Given the description of an element on the screen output the (x, y) to click on. 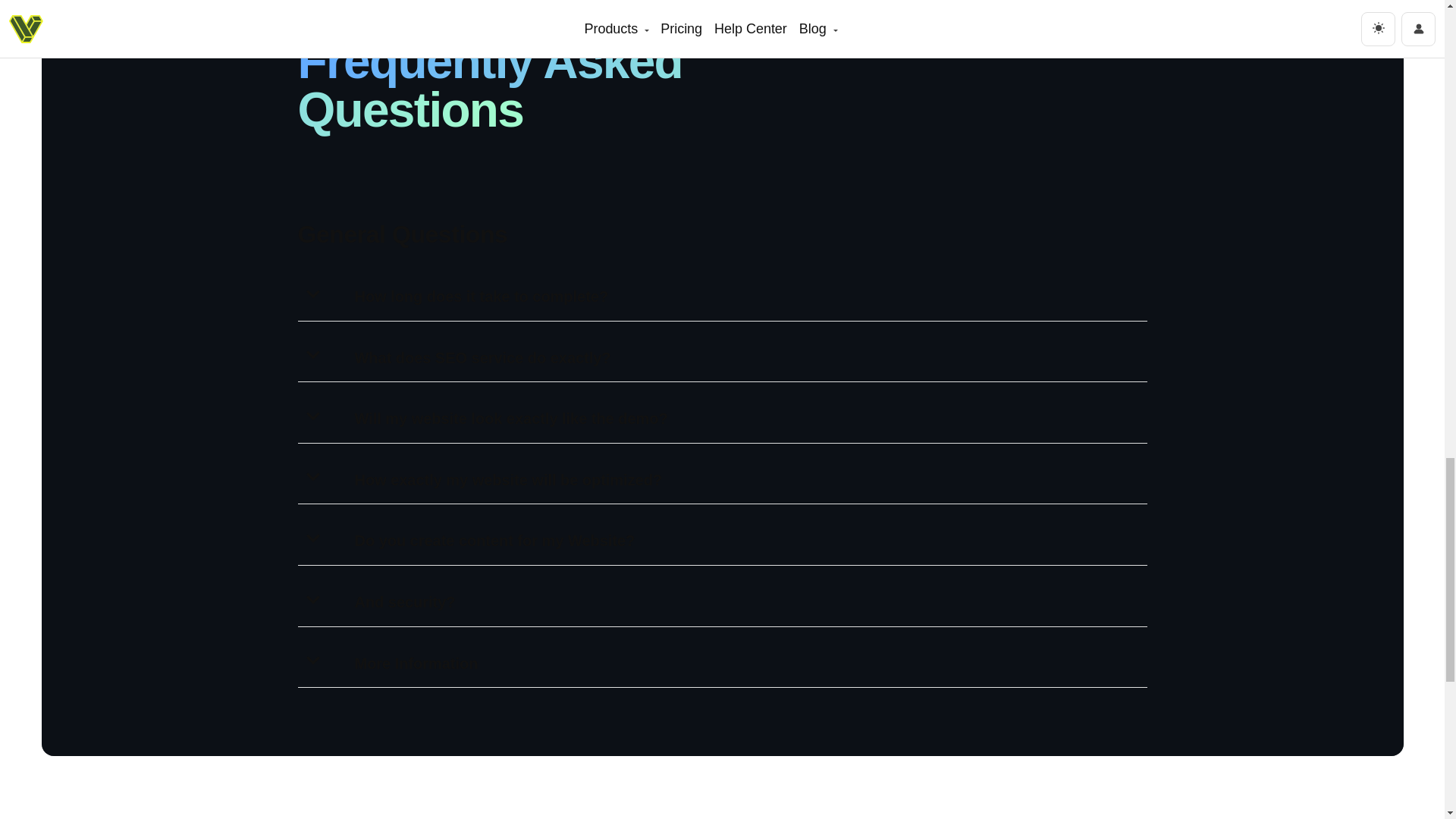
Do you create content for my Website? (494, 540)
Will my website look exactly like the demo? (511, 418)
What does SEO service do exactly? (483, 357)
More Information (417, 663)
How exactly my website will be optimized? (508, 479)
How long does it take to complete? (481, 296)
And security? (405, 601)
